Given the description of an element on the screen output the (x, y) to click on. 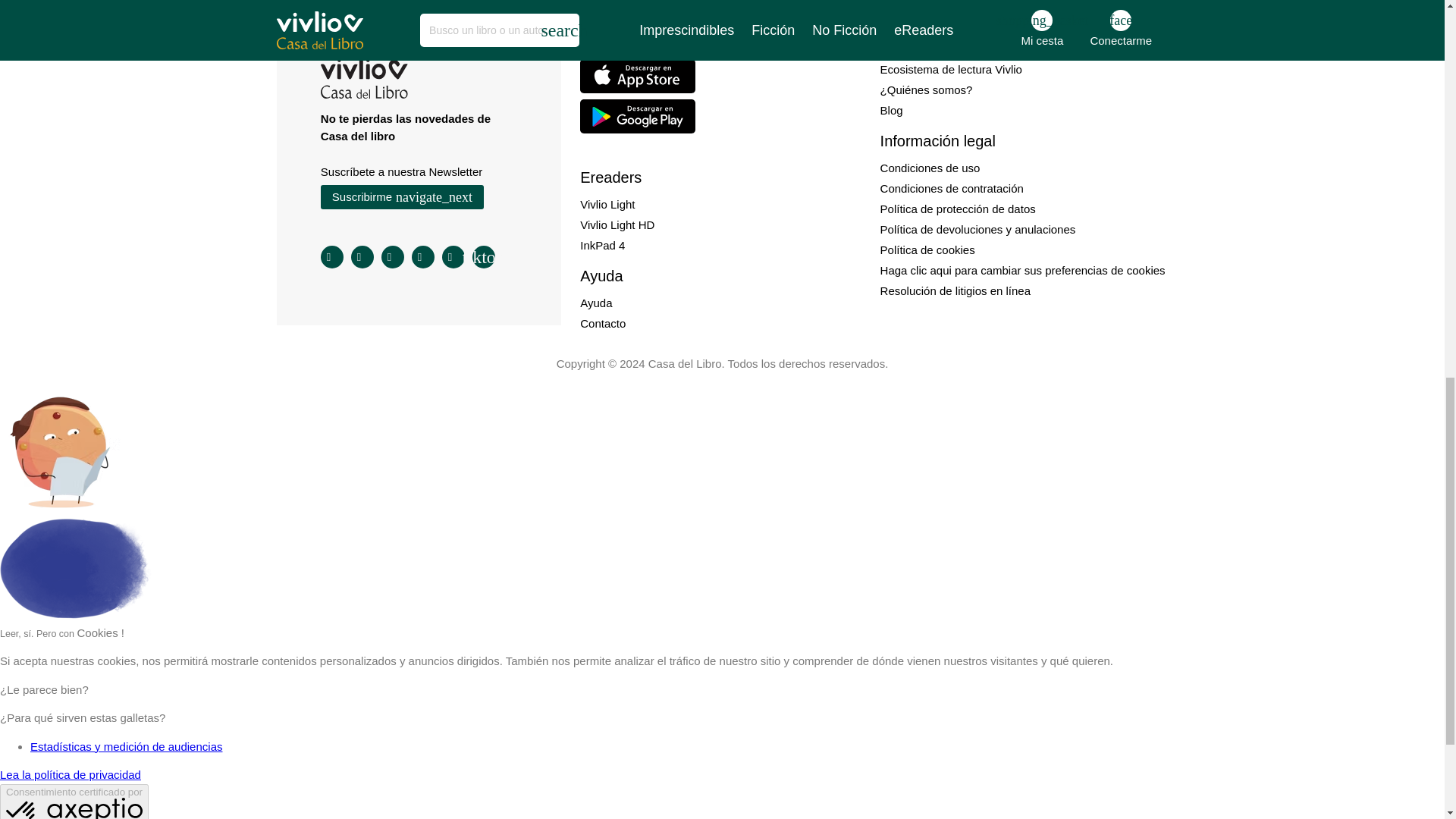
Casa Del Libro Youtube (453, 256)
Casa Del Libro Instagram (331, 256)
Casa Del Libro Twitter (392, 256)
Casa Del Libro Facebook (362, 256)
Casa Del Libro Linkedin (422, 256)
Casa Del Libro Tik Tok (483, 256)
